Given the description of an element on the screen output the (x, y) to click on. 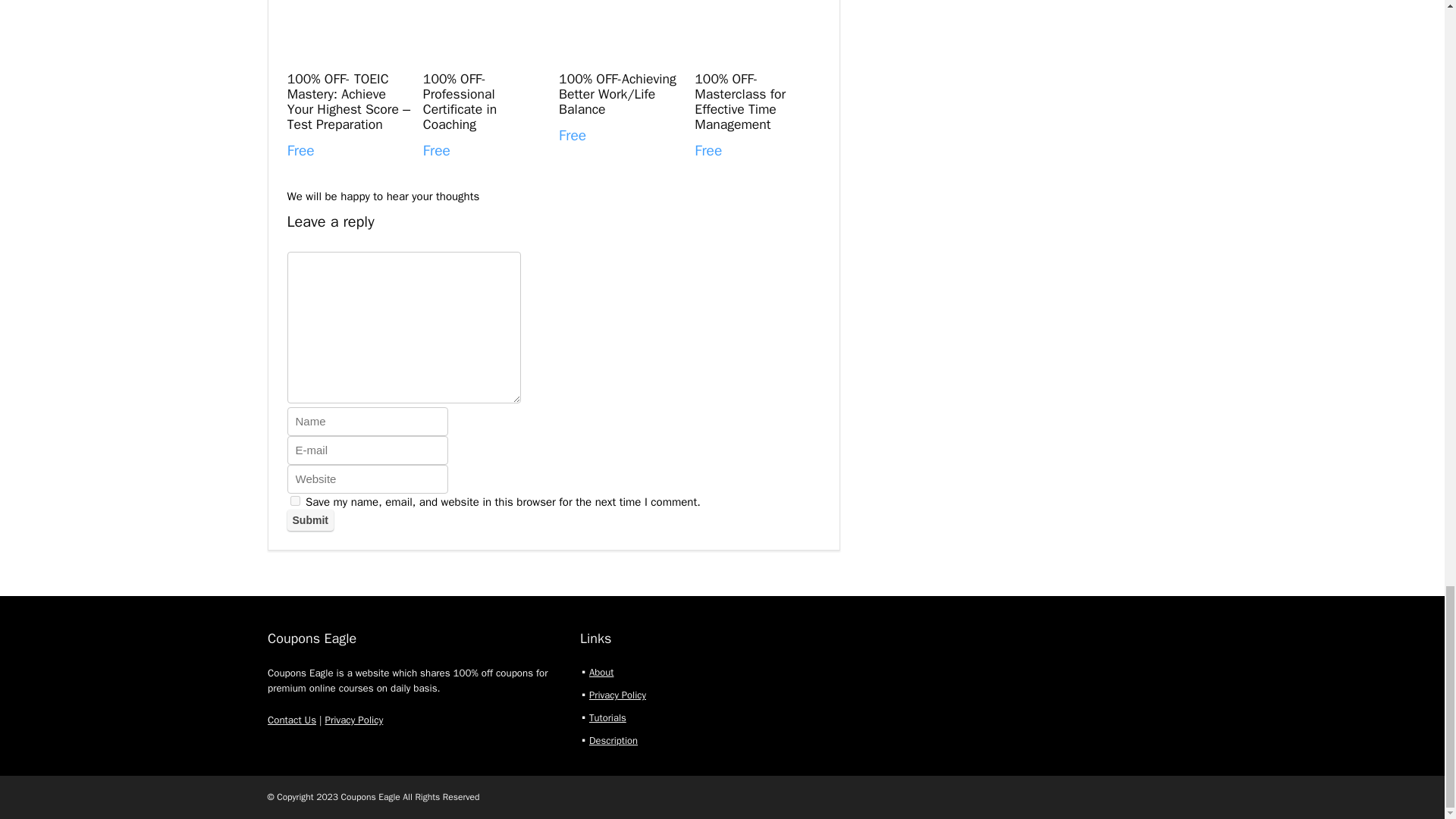
yes (294, 501)
Submit (309, 519)
Contact Us (291, 719)
Submit (309, 519)
